Given the description of an element on the screen output the (x, y) to click on. 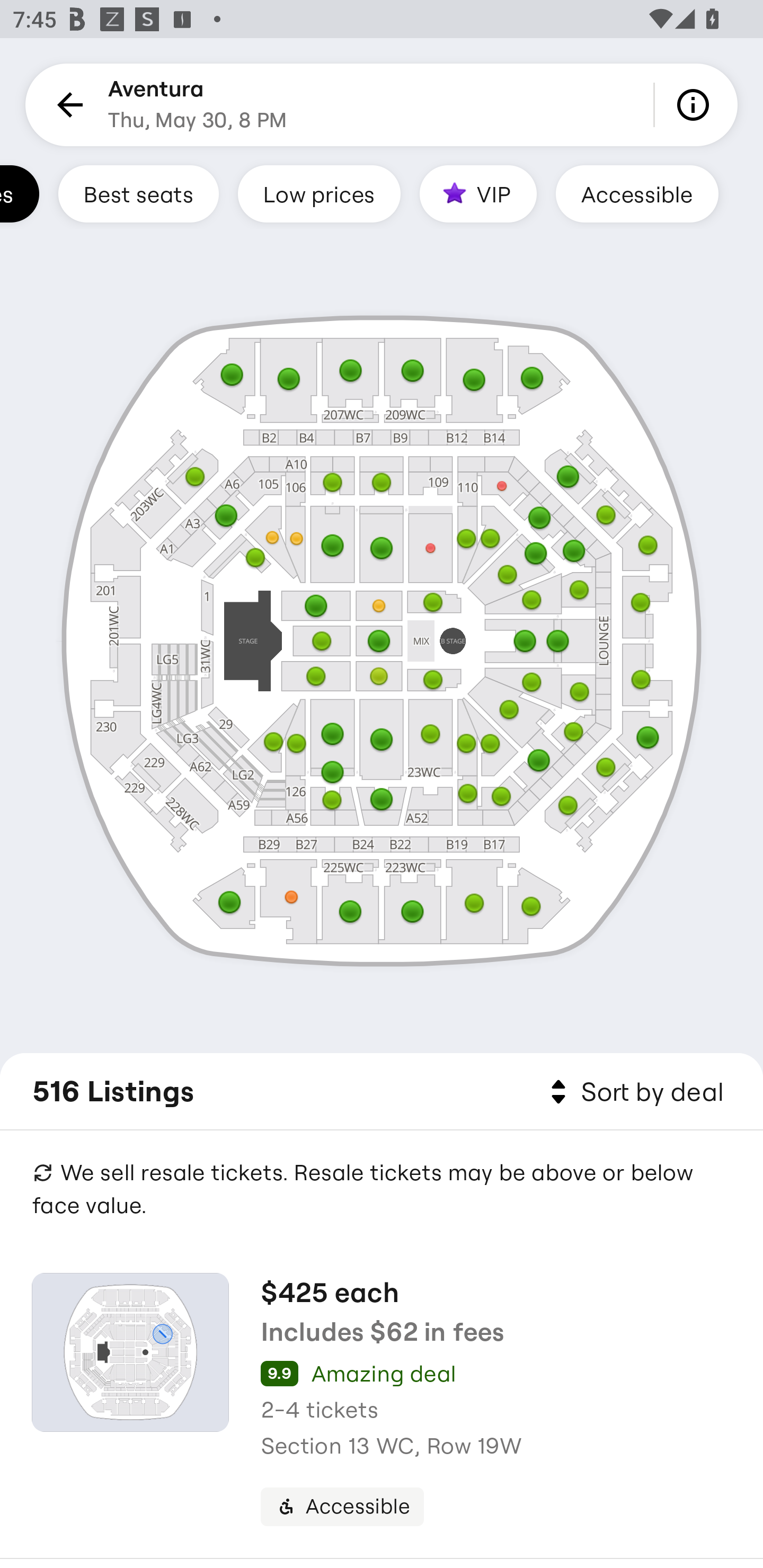
Back (66, 104)
Aventura Thu, May 30, 8 PM (197, 104)
Info (695, 104)
Best seats (137, 193)
Low prices (319, 193)
VIP (477, 193)
Accessible (636, 193)
Sort by deal (633, 1091)
